Given the description of an element on the screen output the (x, y) to click on. 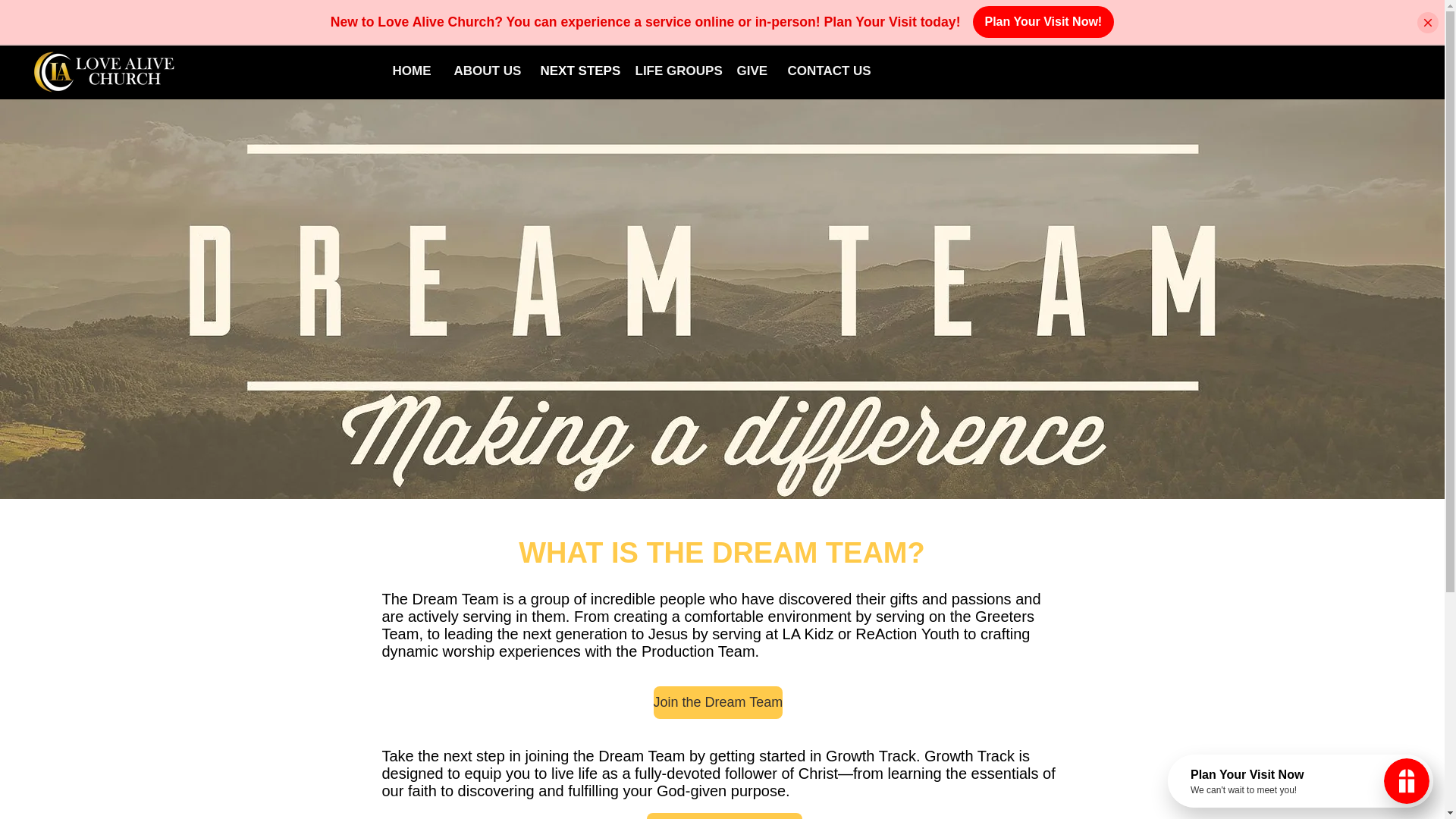
ABOUT US (485, 71)
HOME (411, 71)
CONTACT US (828, 71)
Join the Dream Team (718, 702)
GIVE (750, 71)
NEXT STEPS (576, 71)
Register for Growth Track (724, 816)
LIFE GROUPS (674, 71)
